Given the description of an element on the screen output the (x, y) to click on. 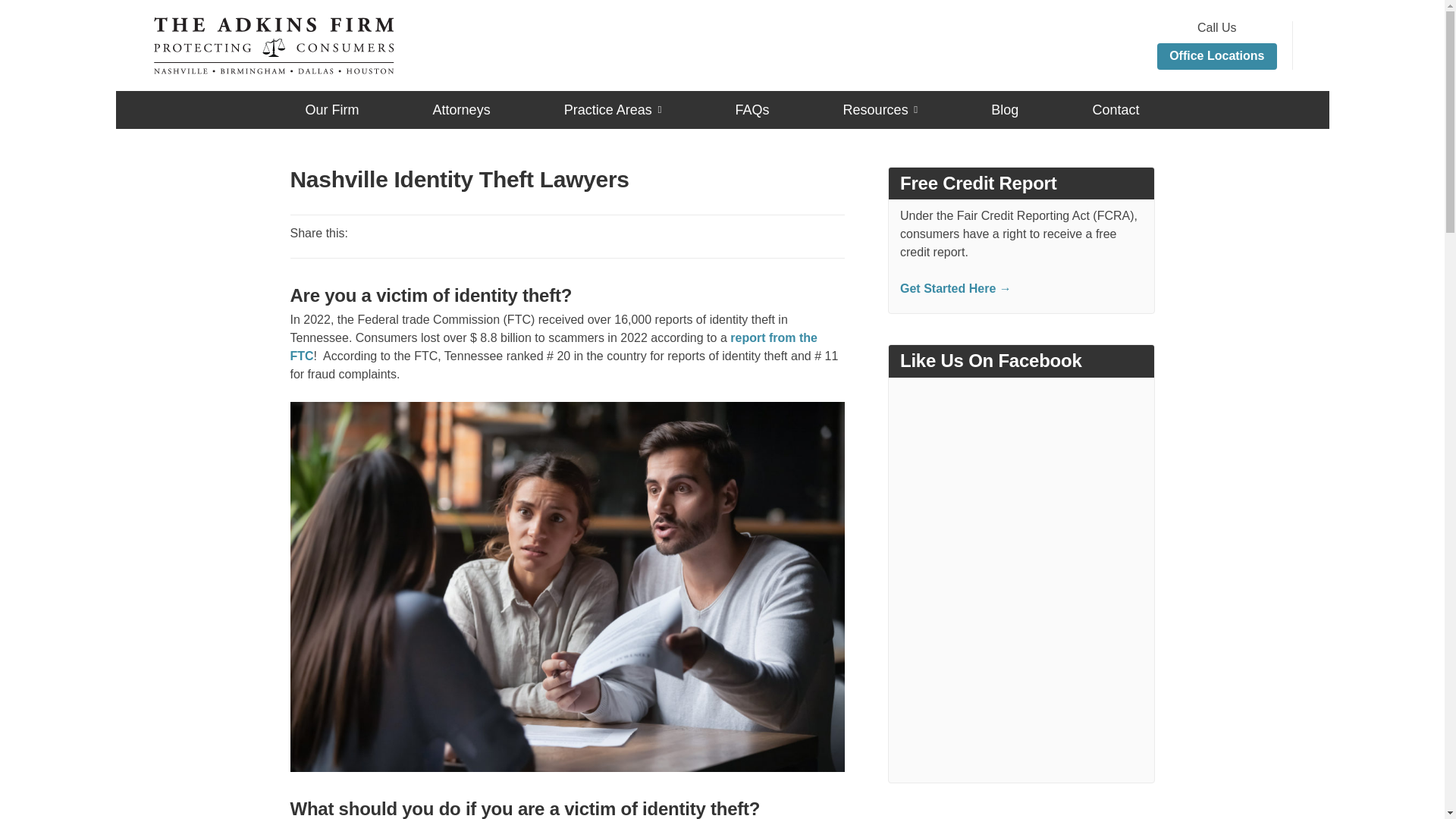
Blog (1004, 109)
report from the FTC (552, 346)
Our Firm (331, 109)
Attorneys (461, 109)
Contact (1115, 109)
FAQs (751, 109)
Practice Areas (613, 115)
Resources (880, 115)
